Given the description of an element on the screen output the (x, y) to click on. 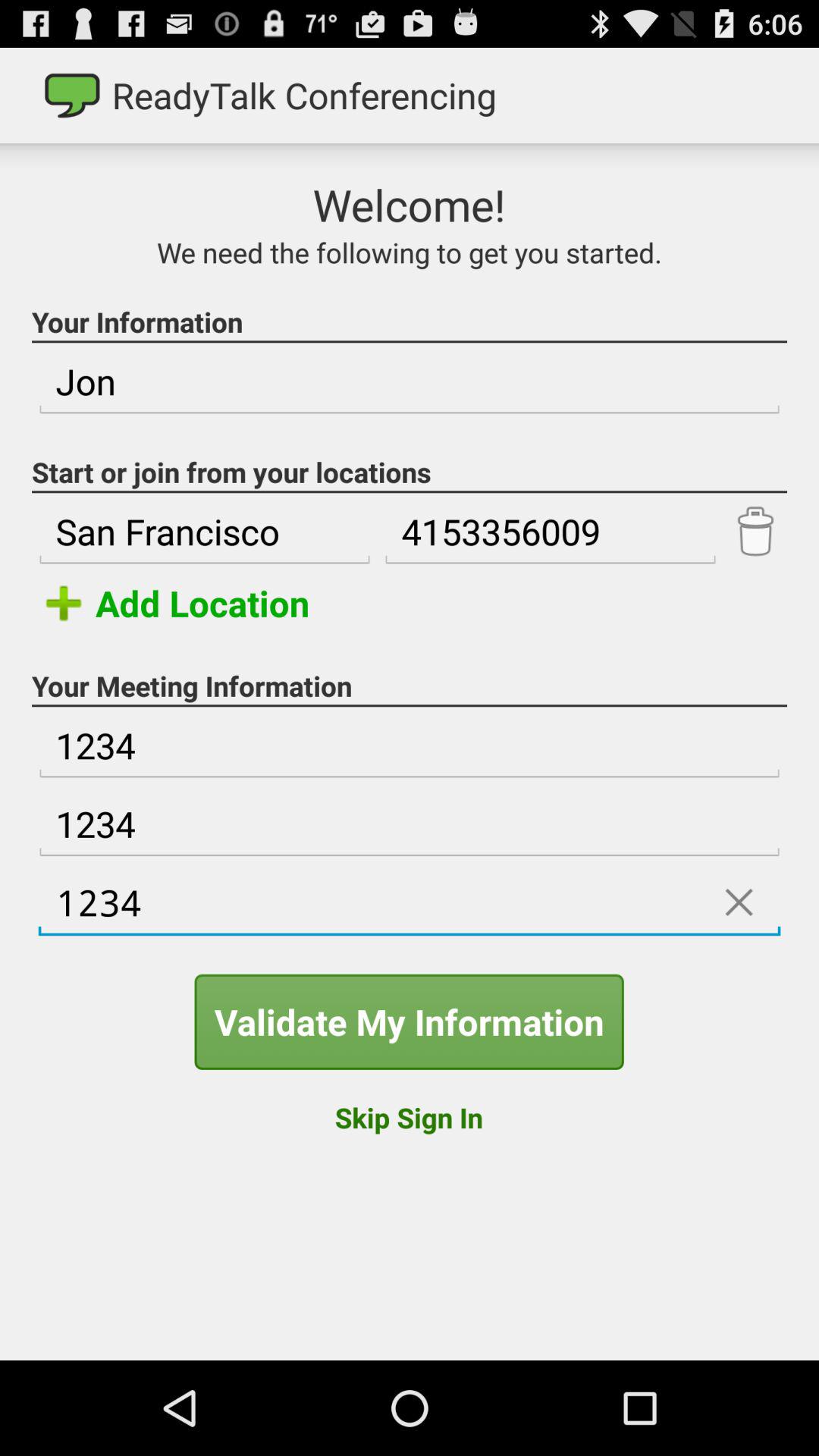
press icon next to the 4153356009 (755, 532)
